Given the description of an element on the screen output the (x, y) to click on. 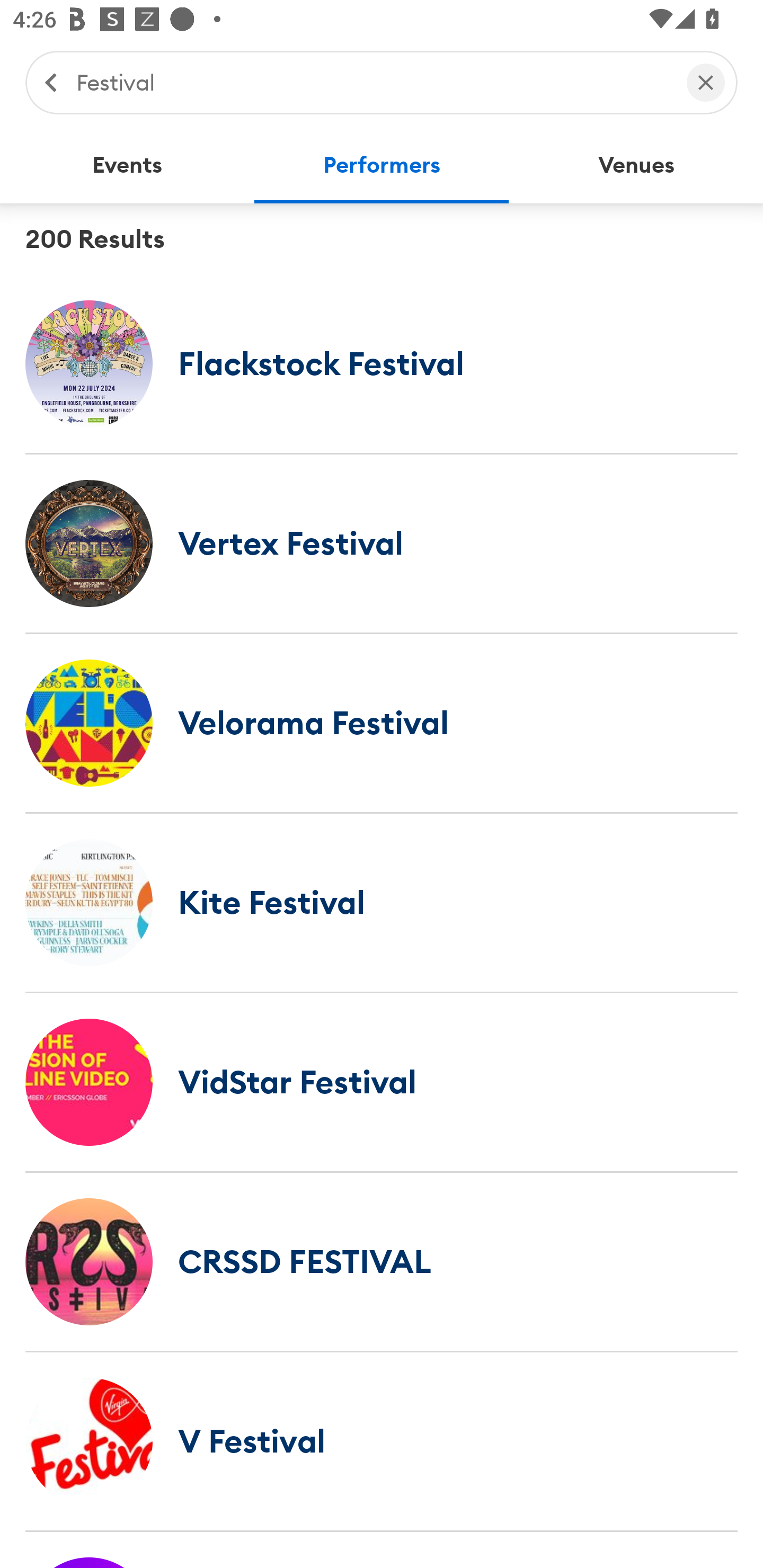
Festival (371, 81)
Clear Search (705, 81)
Events (127, 165)
Venues (635, 165)
Flackstock Festival (381, 363)
Vertex Festival (381, 542)
Velorama Festival (381, 722)
Kite Festival (381, 901)
VidStar Festival (381, 1081)
CRSSD FESTIVAL (381, 1261)
V Festival (381, 1440)
